Given the description of an element on the screen output the (x, y) to click on. 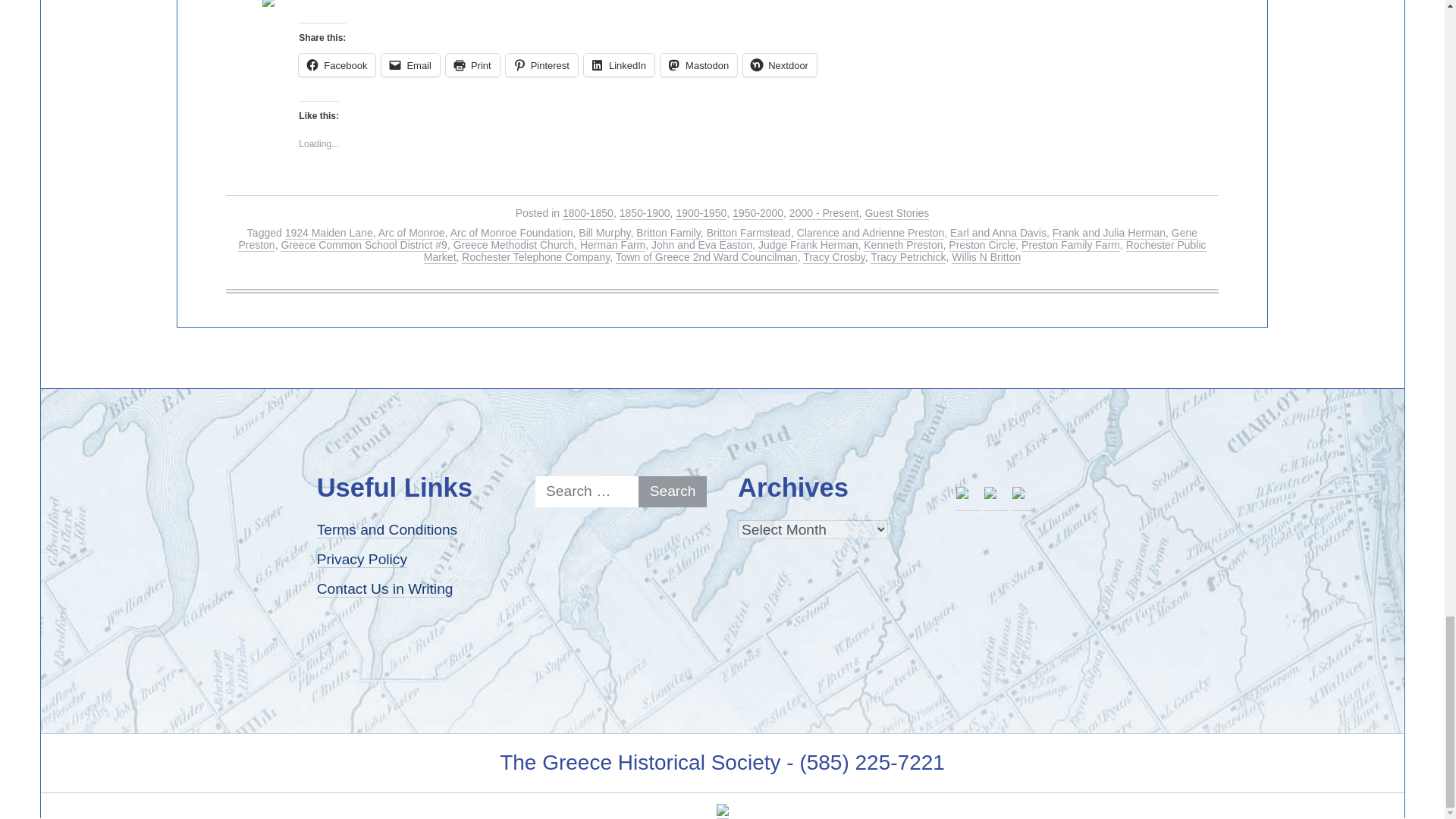
Click to email a link to a friend (410, 65)
Share by email (268, 3)
Click to print (472, 65)
Click to share on Facebook (336, 65)
Click to share on Mastodon (698, 65)
Search (672, 490)
Click to share on LinkedIn (618, 65)
Click to share on Pinterest (541, 65)
Search (672, 490)
Share by email (274, 9)
